Given the description of an element on the screen output the (x, y) to click on. 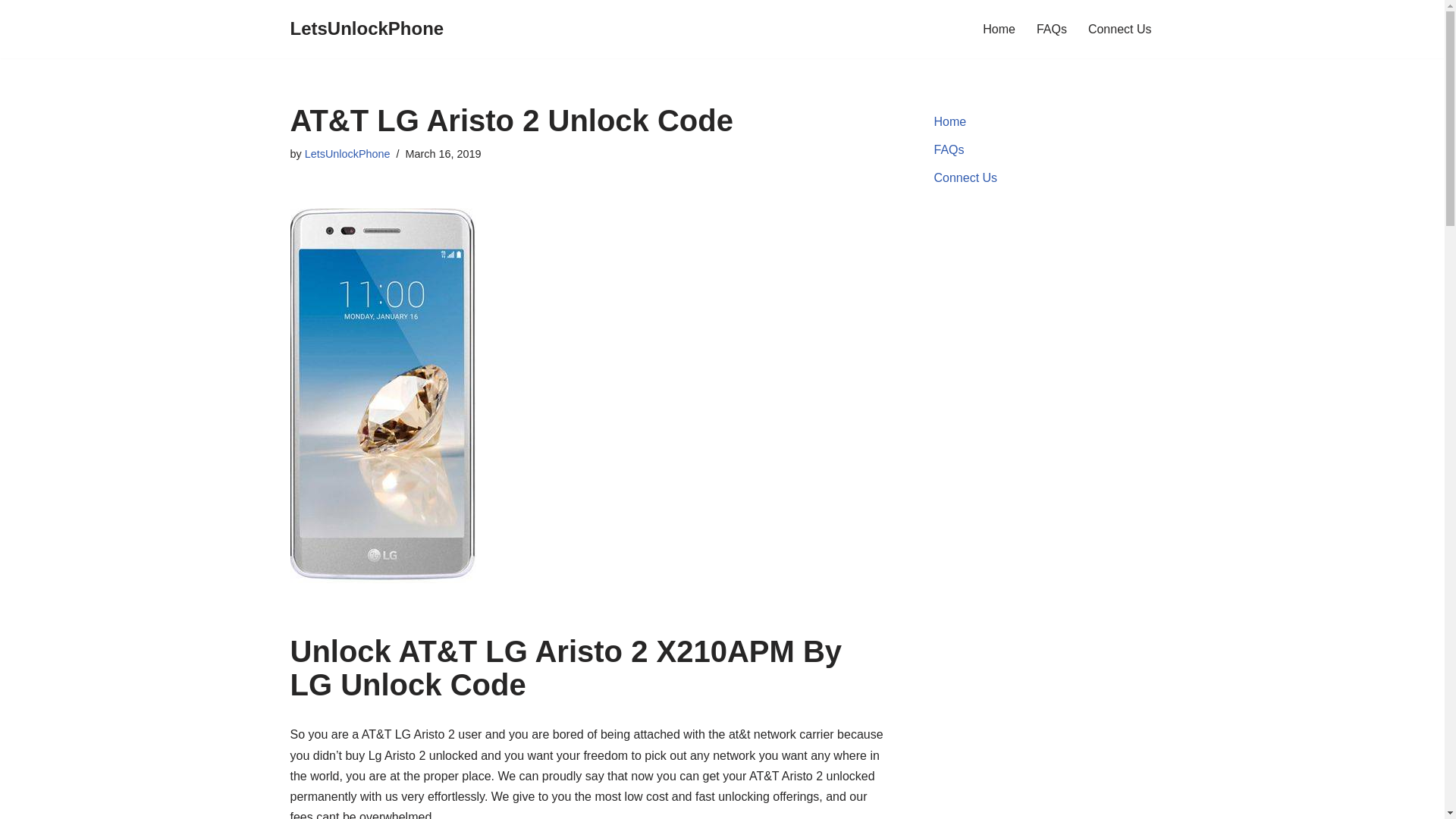
LetsUnlockPhone (347, 153)
Connect Us (1119, 28)
Skip to content (11, 31)
Home (950, 121)
LetsUnlockPhone (366, 29)
Home (998, 28)
Connect Us (965, 177)
Posts by LetsUnlockPhone (347, 153)
FAQs (1051, 28)
FAQs (948, 149)
LetsUnlockPhone (366, 29)
